Given the description of an element on the screen output the (x, y) to click on. 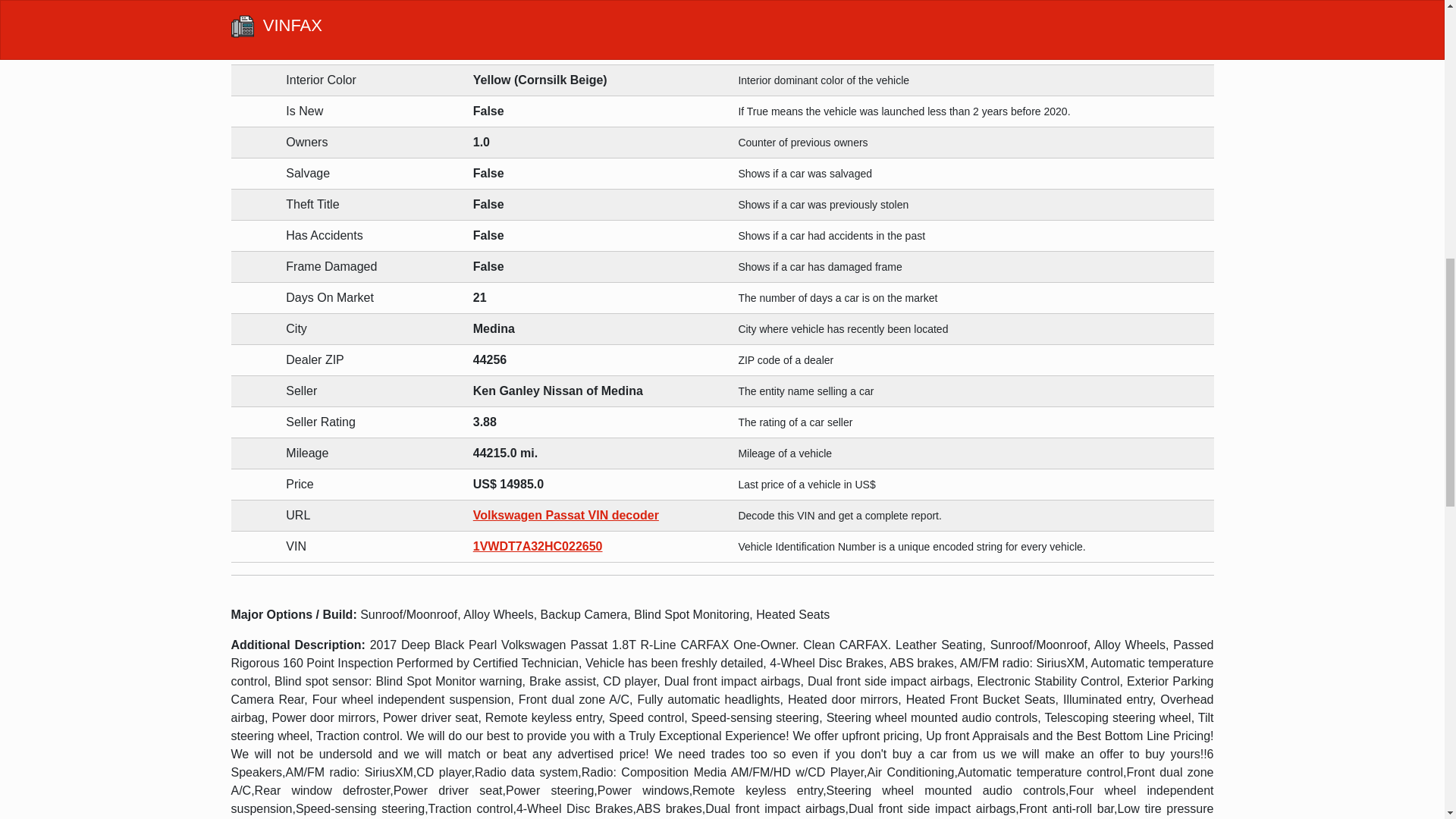
Get Report for 1VWDT7A32HC022650 (537, 545)
Volkswagen Passat VIN decoder (566, 514)
Volkswagen Passat VIN decoder (566, 514)
1VWDT7A32HC022650 (537, 545)
